Given the description of an element on the screen output the (x, y) to click on. 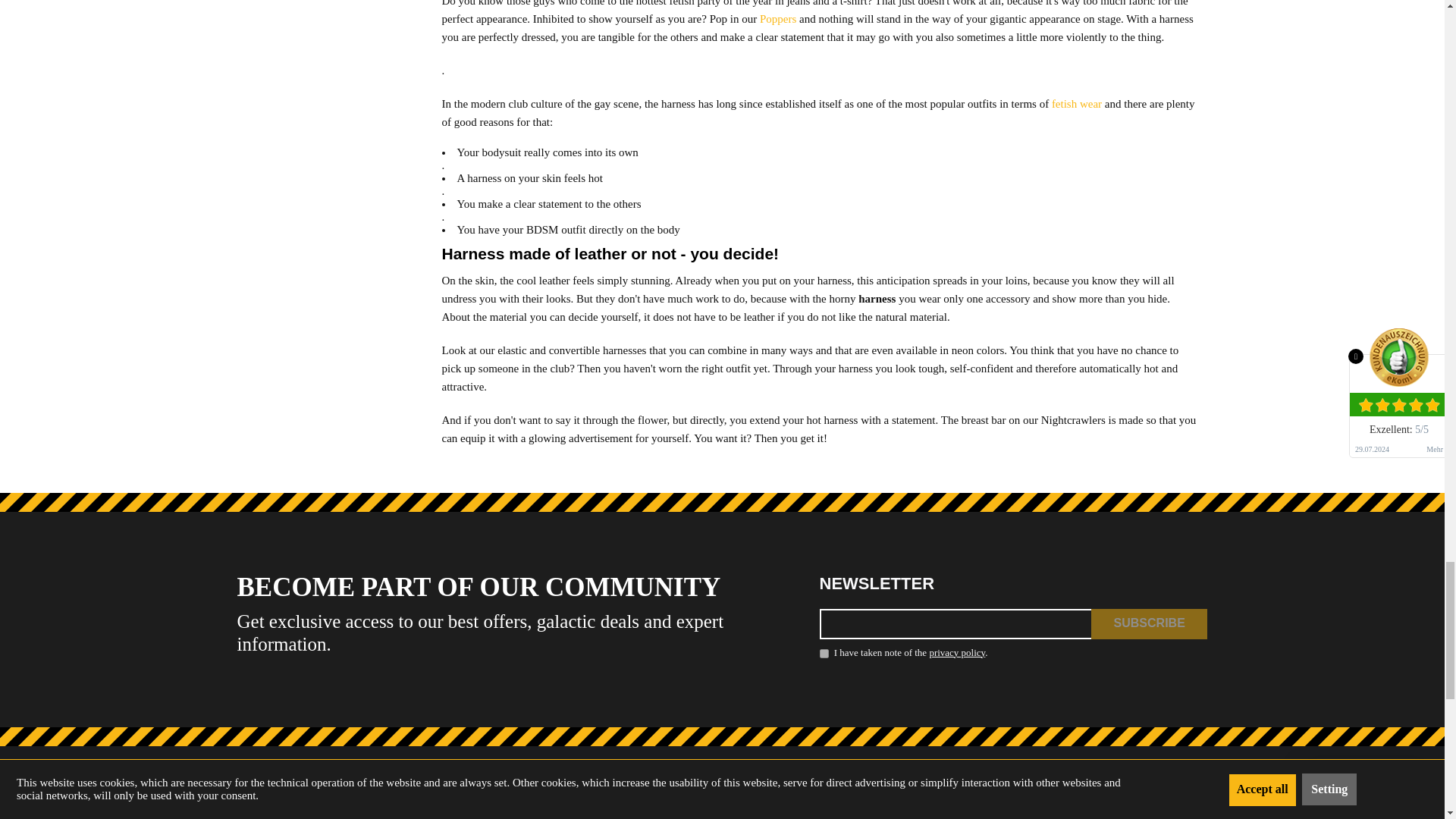
on (823, 653)
